Given the description of an element on the screen output the (x, y) to click on. 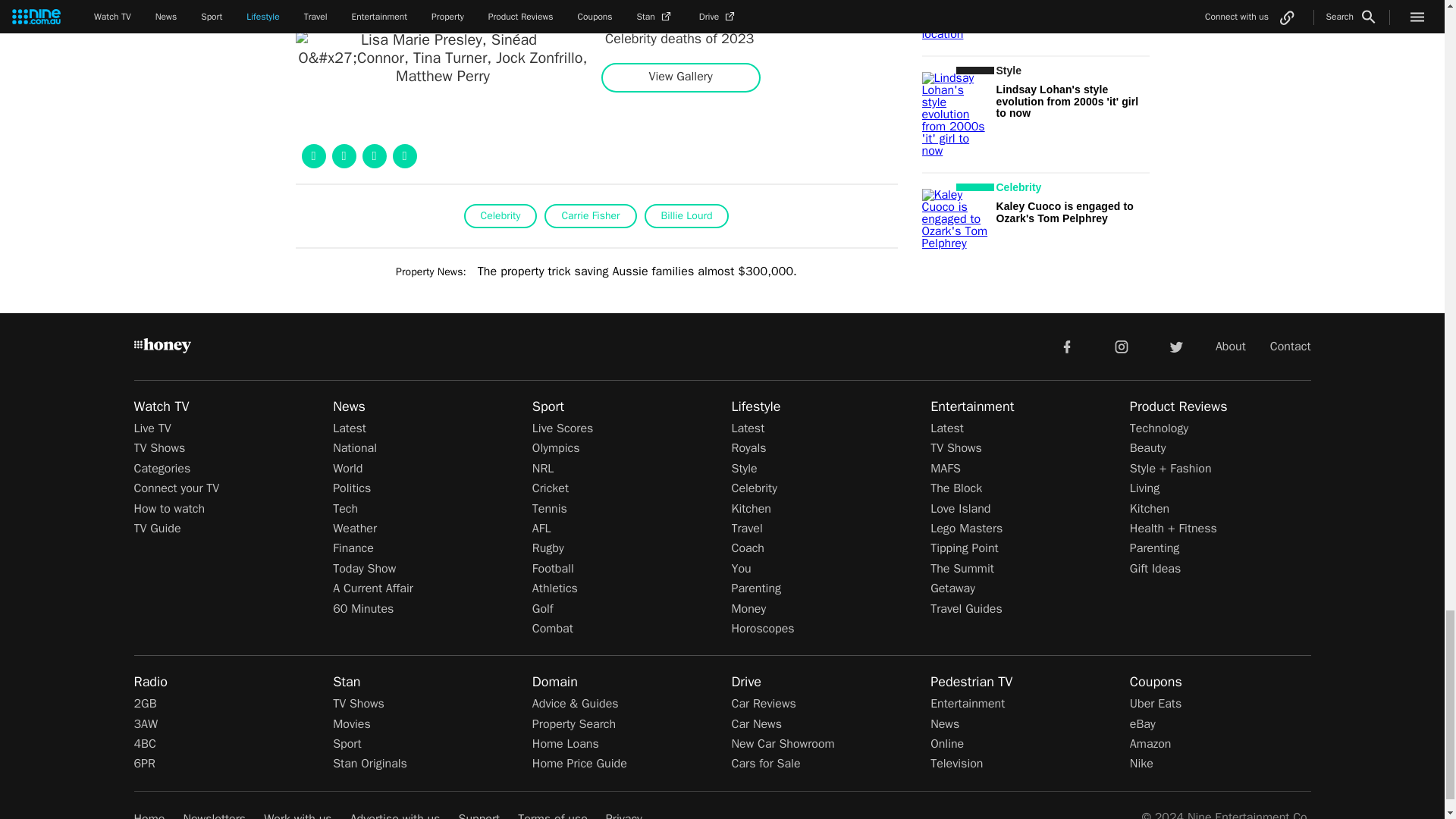
twitter (1175, 345)
facebook (1066, 345)
instagram (1121, 345)
